Given the description of an element on the screen output the (x, y) to click on. 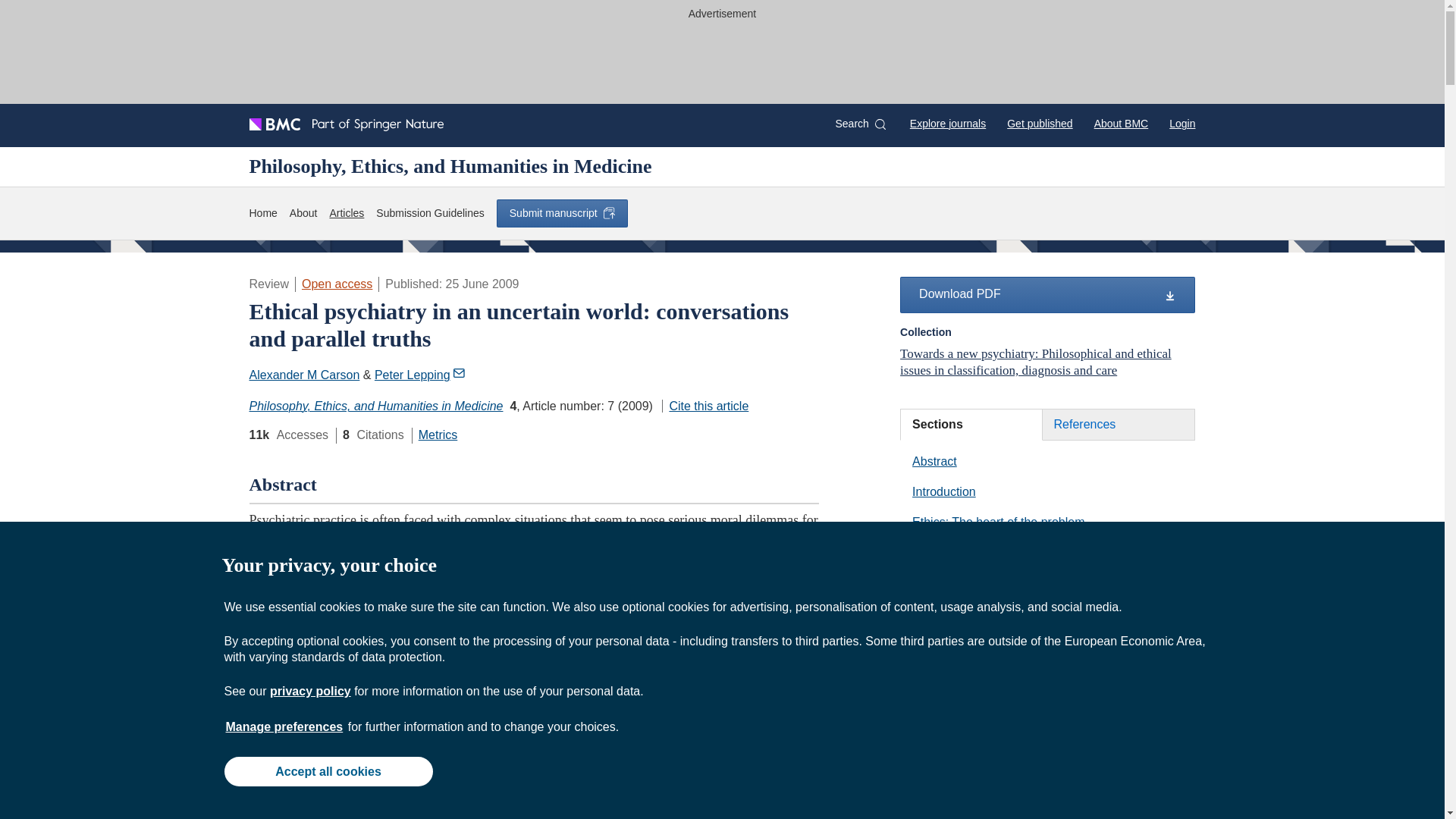
Philosophy, Ethics, and Humanities in Medicine (375, 405)
Open access (336, 283)
Submit manuscript (561, 212)
Home (262, 212)
Get published (1039, 123)
Login (1182, 123)
Manage preferences (284, 726)
About (303, 212)
Philosophy, Ethics, and Humanities in Medicine (449, 166)
About BMC (1121, 123)
